Given the description of an element on the screen output the (x, y) to click on. 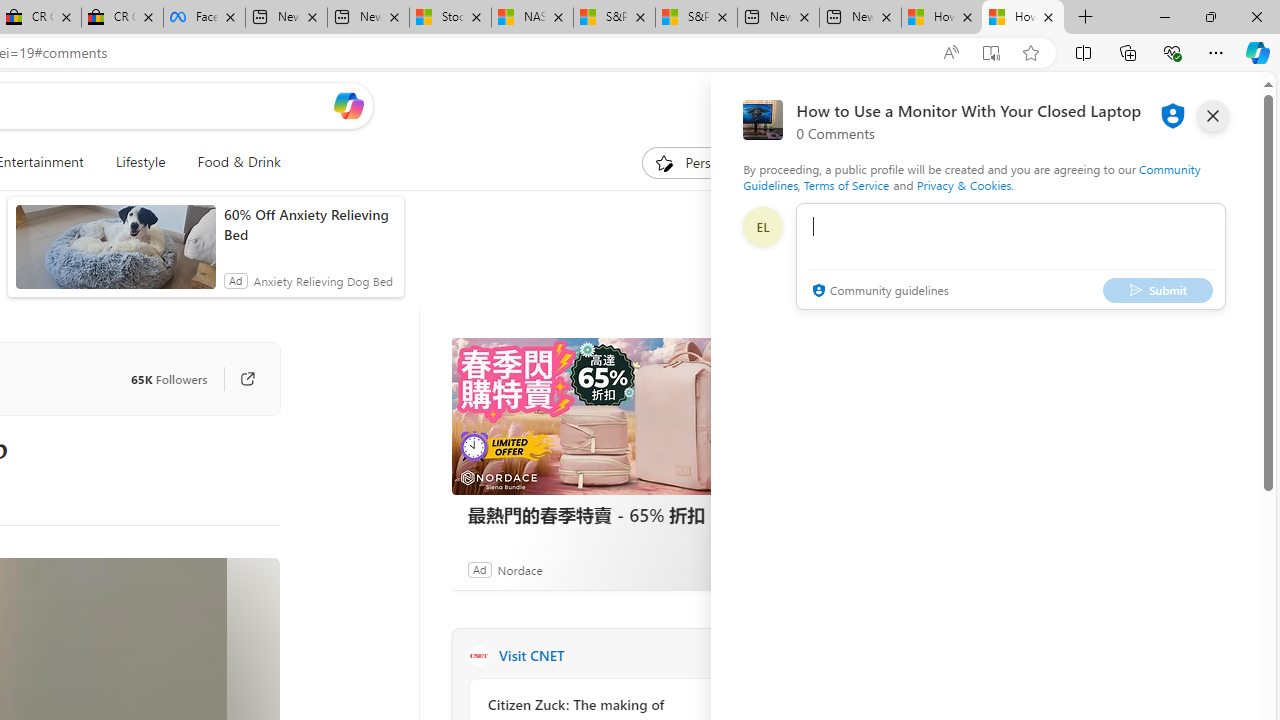
Lifestyle (139, 162)
close (1212, 115)
Food & Drink (239, 162)
S&P 500, Nasdaq end lower, weighed by Nvidia dip | Watch (696, 17)
Profile Picture (762, 226)
60% Off Anxiety Relieving Bed (308, 224)
Personalize (703, 162)
Submit (1158, 290)
